Given the description of an element on the screen output the (x, y) to click on. 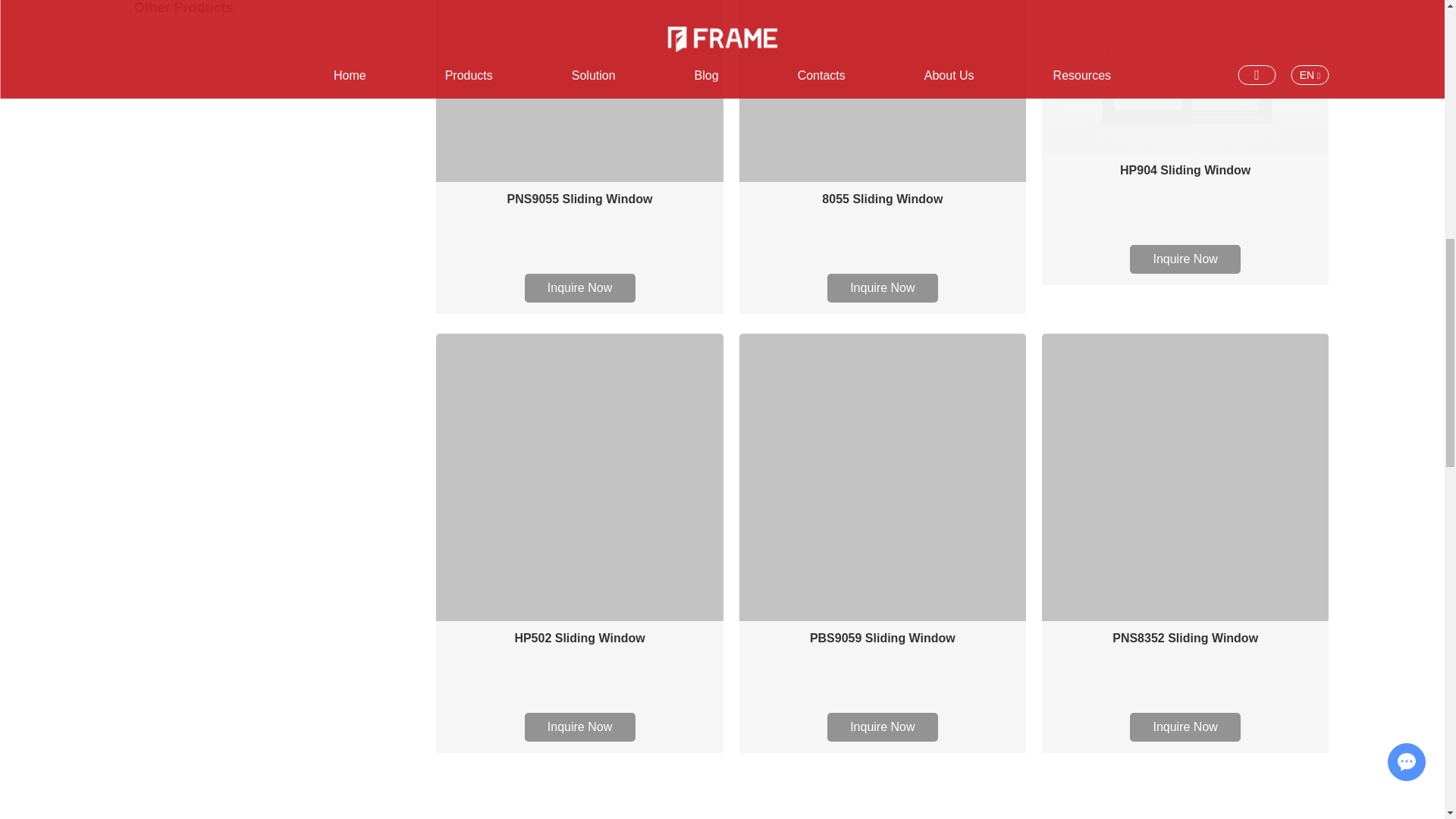
PNS9055 Sliding Window (579, 201)
